Given the description of an element on the screen output the (x, y) to click on. 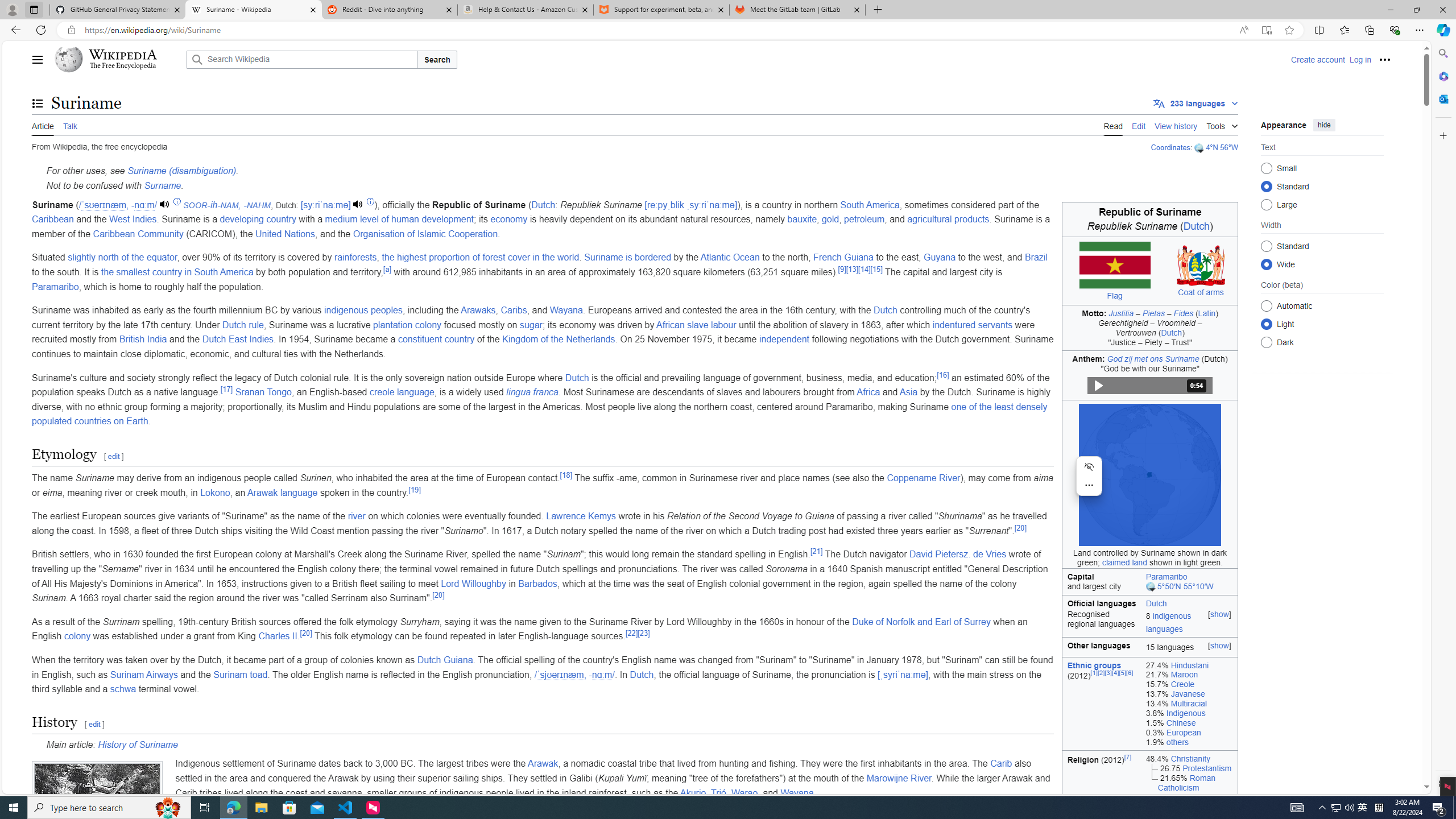
Africa (868, 392)
Brazil (1036, 257)
[2] (1101, 672)
Talk (69, 124)
1.9% others (1189, 741)
Arawak language (282, 492)
constituent country (435, 339)
developing country (258, 219)
South America (869, 204)
